Given the description of an element on the screen output the (x, y) to click on. 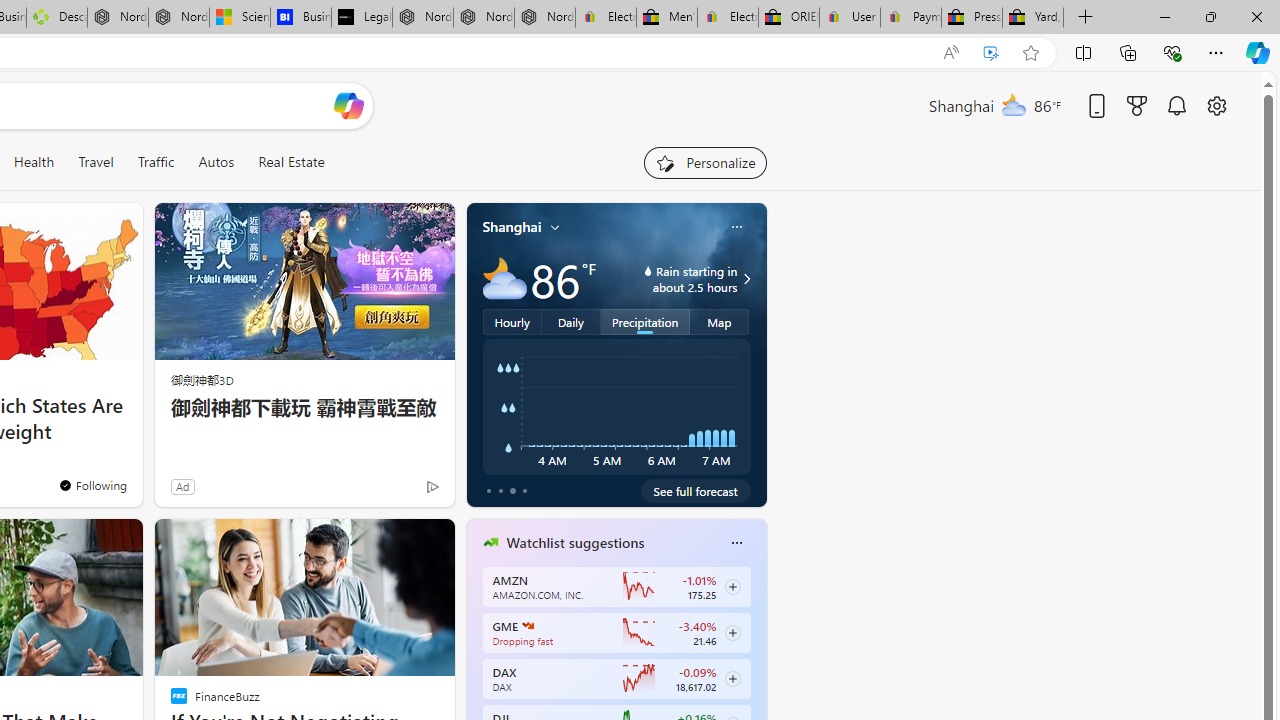
water-drop-icon Rain starting in about 2.5 hours (674, 278)
Personalize your feed" (704, 162)
water-drop-icon (648, 270)
Daily (571, 321)
4 AM 5 AM 6 AM 7 AM (616, 407)
GAMESTOP CORP. (528, 625)
